Given the description of an element on the screen output the (x, y) to click on. 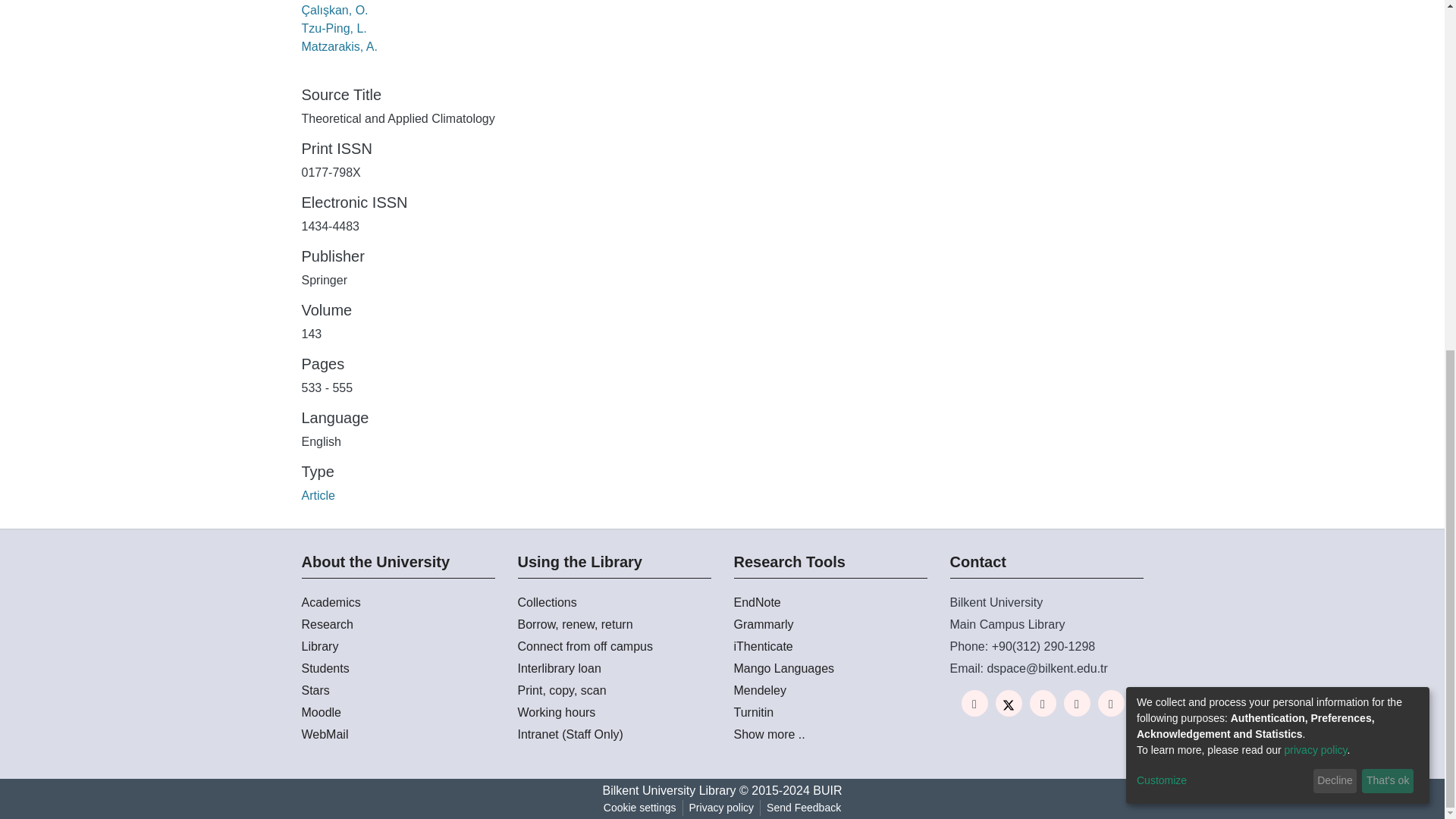
Article (317, 495)
Research (398, 624)
Tzu-Ping, L. (333, 28)
Academics (398, 602)
Matzarakis, A. (339, 46)
